Given the description of an element on the screen output the (x, y) to click on. 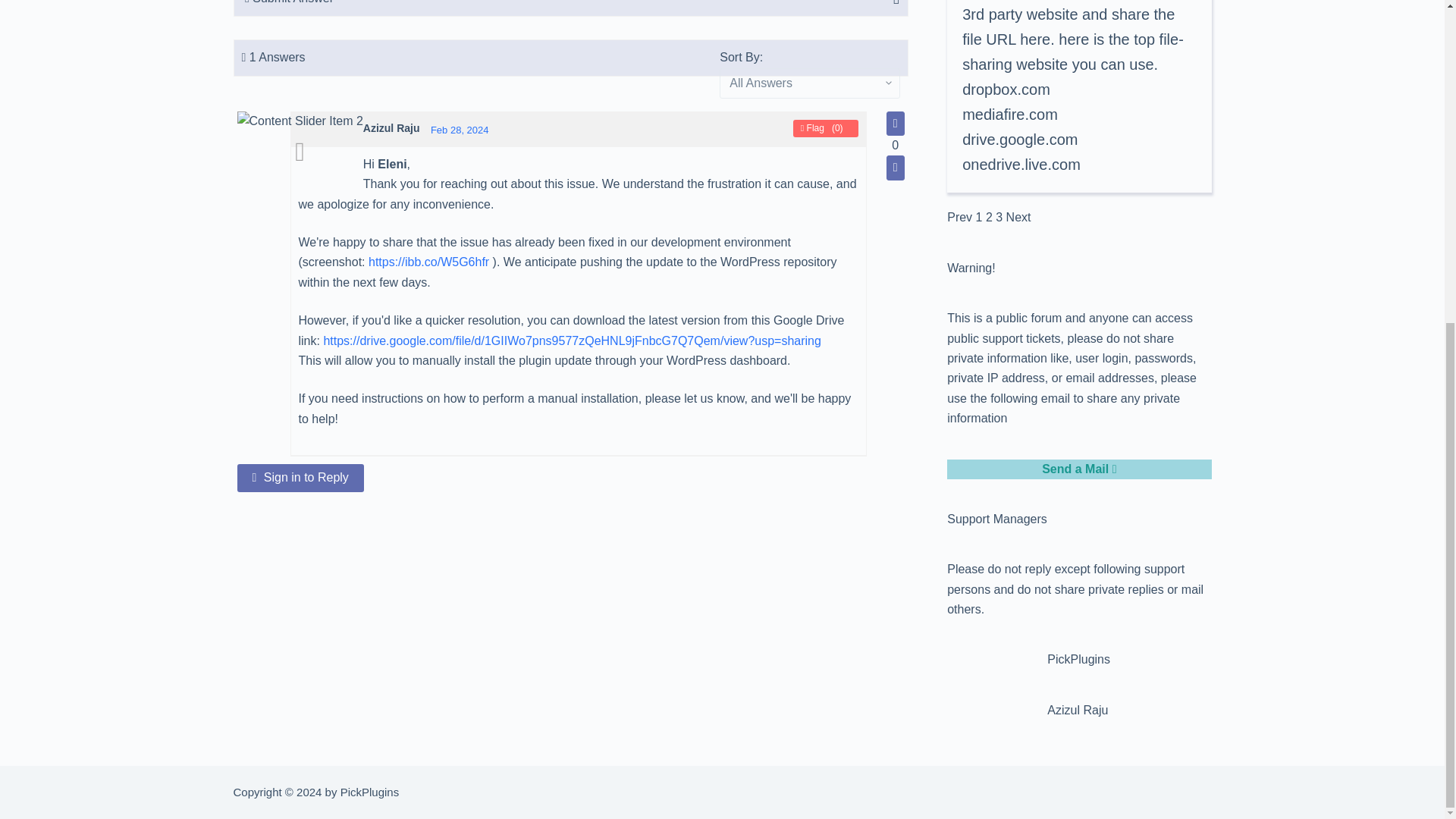
Content Slider Item 2 (298, 121)
Choose best answer (298, 152)
Feb 28, 2024 11:22 AM (459, 129)
